Given the description of an element on the screen output the (x, y) to click on. 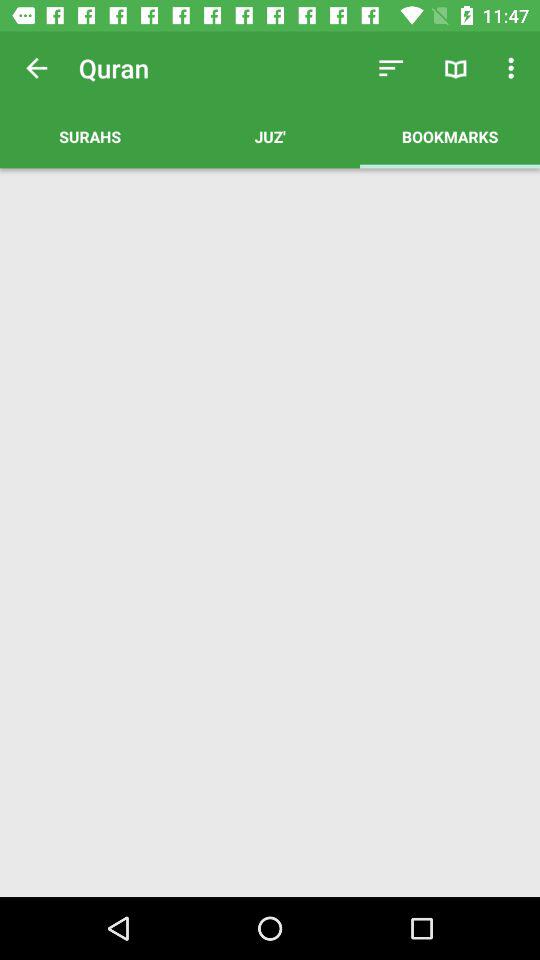
launch item next to the juz' app (450, 136)
